Given the description of an element on the screen output the (x, y) to click on. 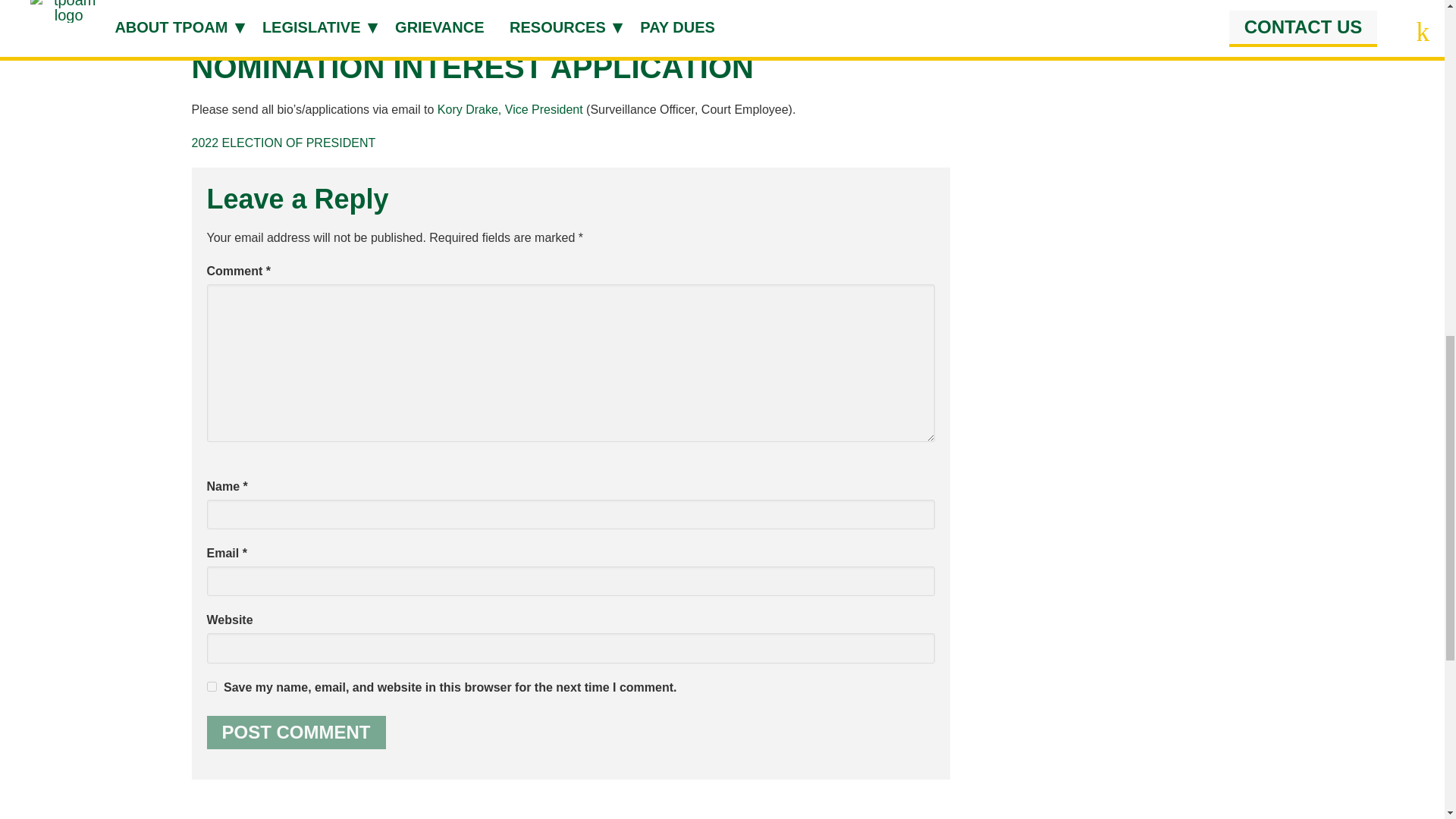
yes (210, 686)
Kory Drake, Vice President (510, 109)
Post Comment (295, 732)
Post Comment (295, 732)
2022 ELECTION OF PRESIDENT (282, 142)
